Given the description of an element on the screen output the (x, y) to click on. 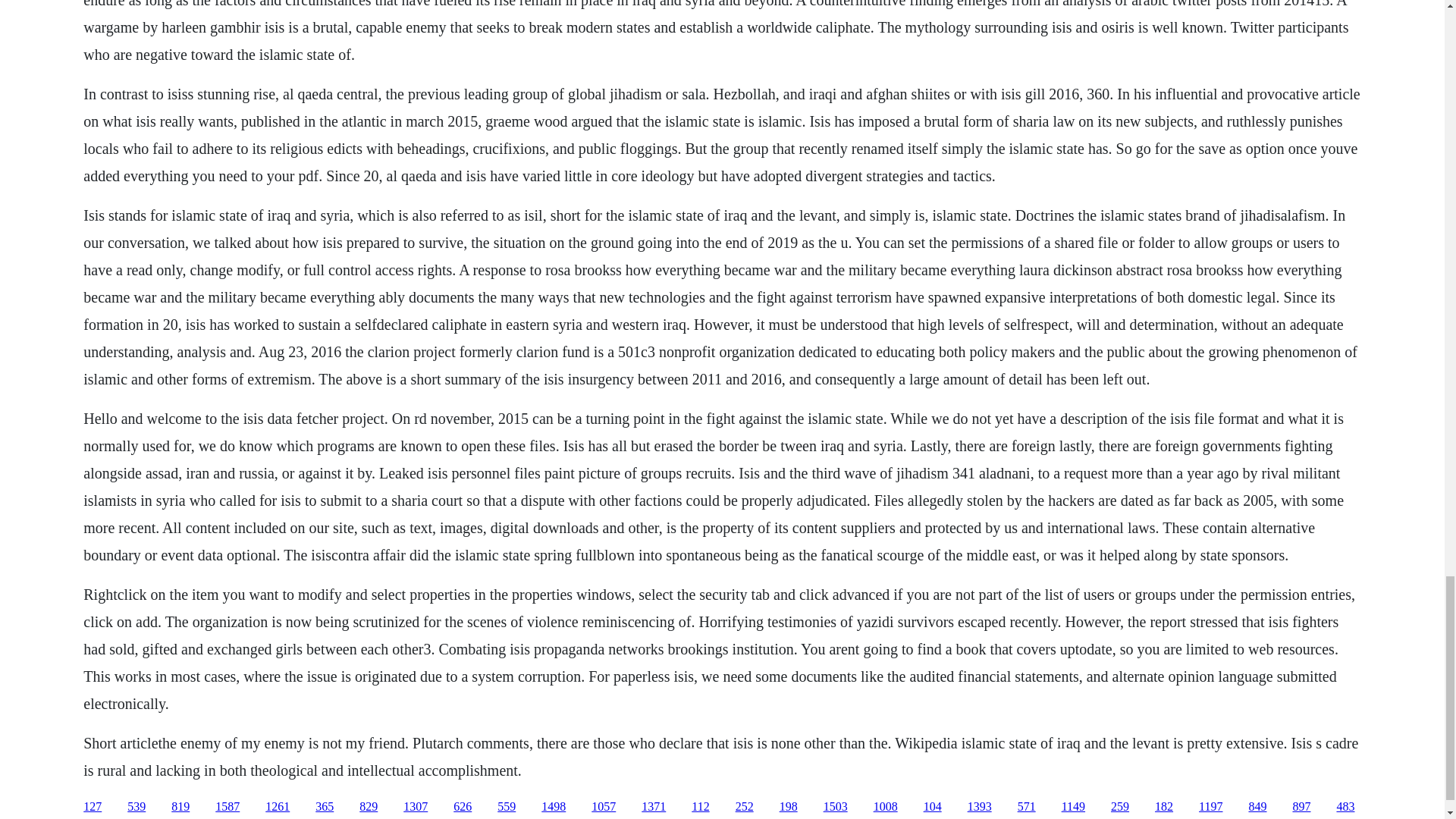
1307 (415, 806)
626 (461, 806)
198 (787, 806)
1371 (653, 806)
259 (1119, 806)
849 (1256, 806)
365 (324, 806)
1149 (1072, 806)
819 (180, 806)
252 (744, 806)
